Given the description of an element on the screen output the (x, y) to click on. 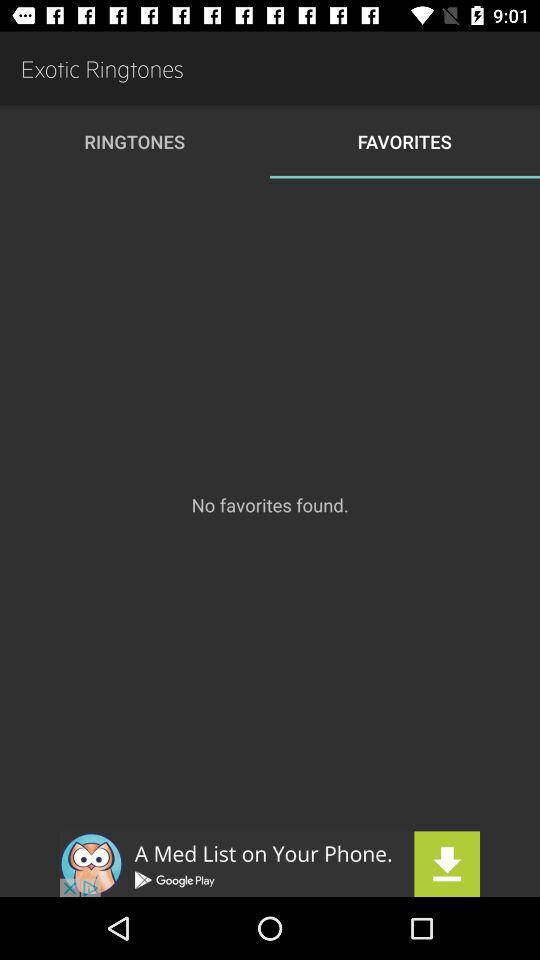
advertisement button (270, 864)
